Given the description of an element on the screen output the (x, y) to click on. 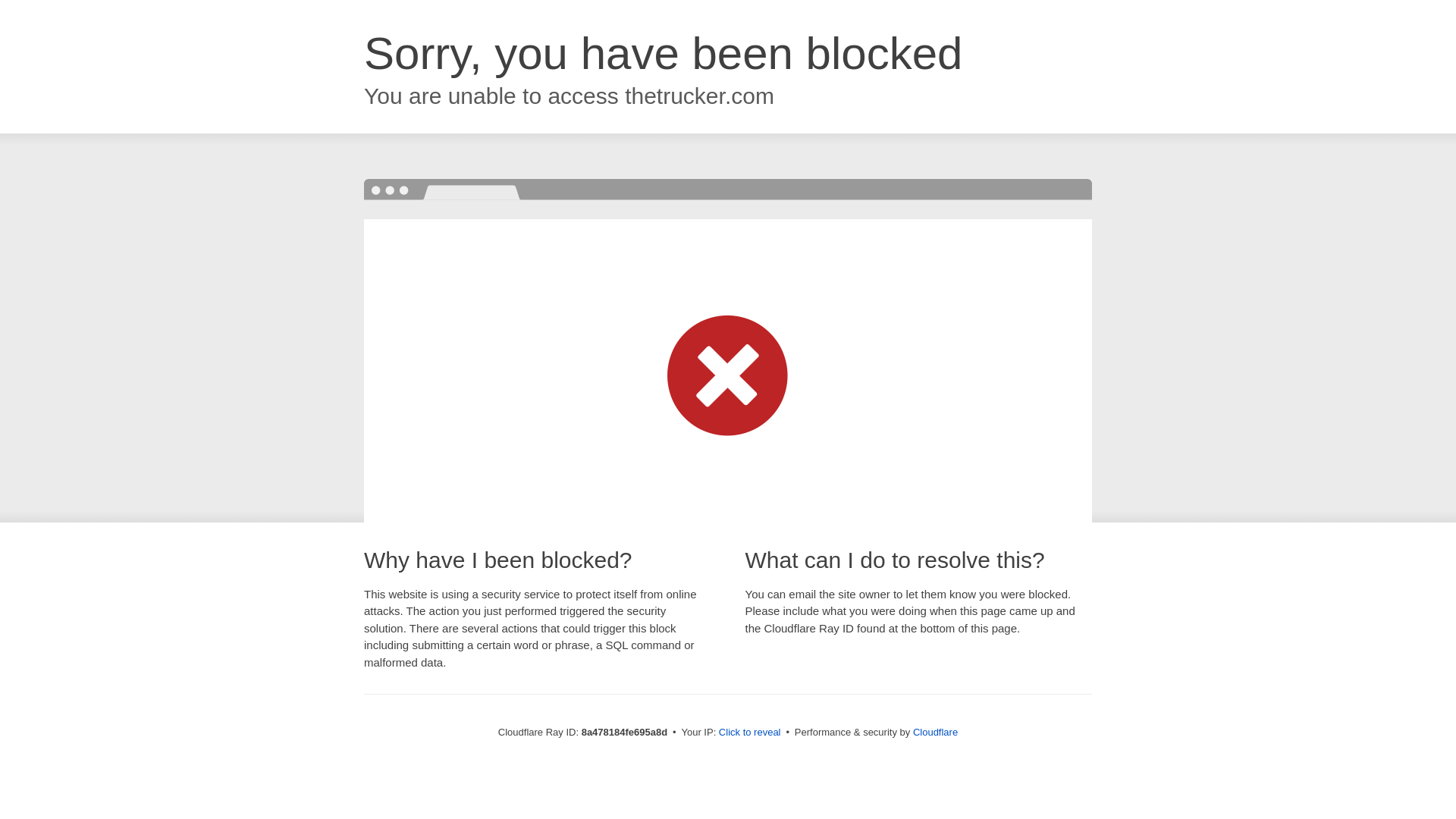
Cloudflare (935, 731)
Click to reveal (749, 732)
